Given the description of an element on the screen output the (x, y) to click on. 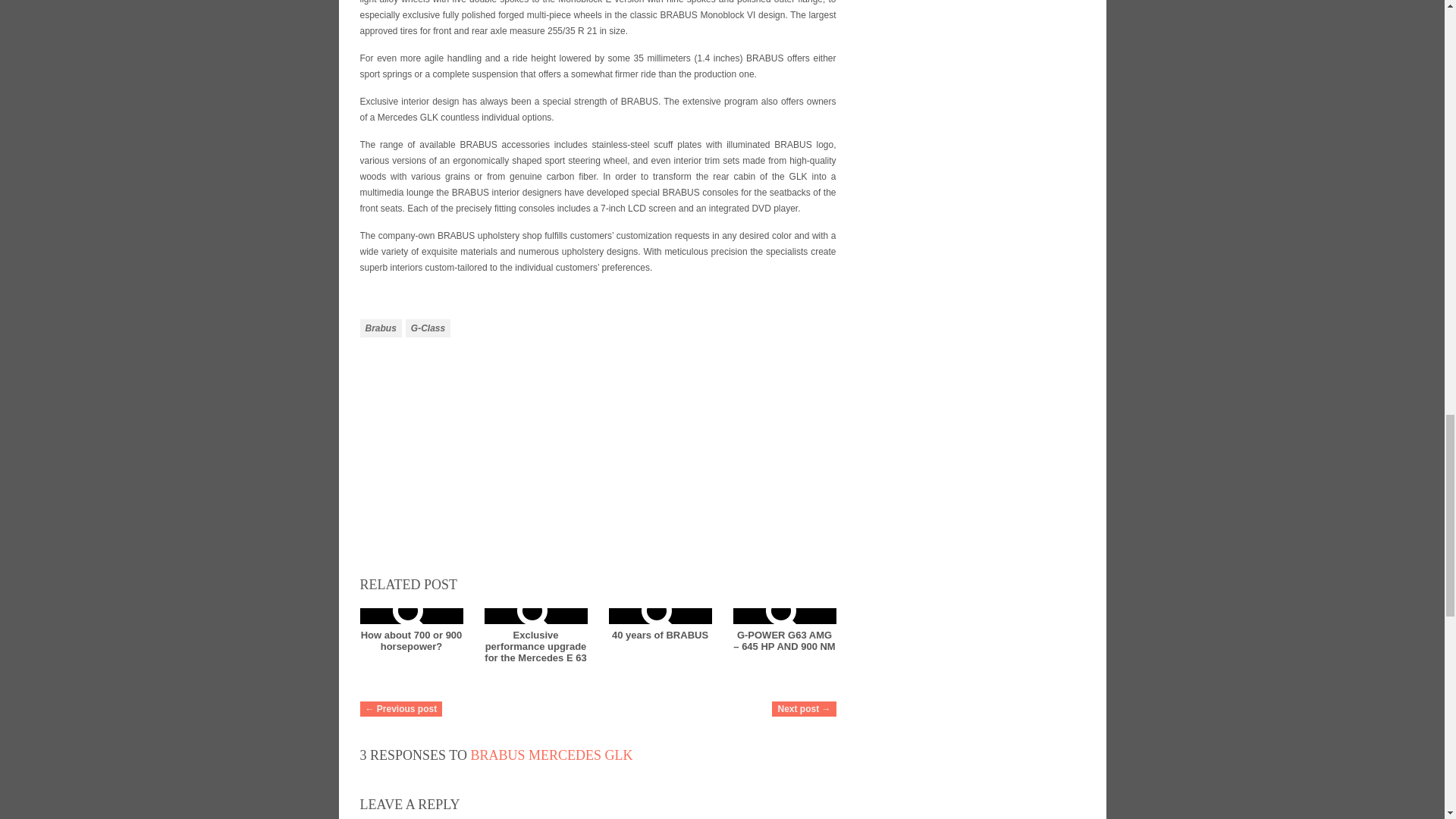
Brabus (380, 328)
Exclusive performance upgrade for the Mercedes E 63 (535, 646)
G-Class (427, 328)
40 years of BRABUS (659, 634)
How about 700 or 900 horsepower? (412, 640)
